Given the description of an element on the screen output the (x, y) to click on. 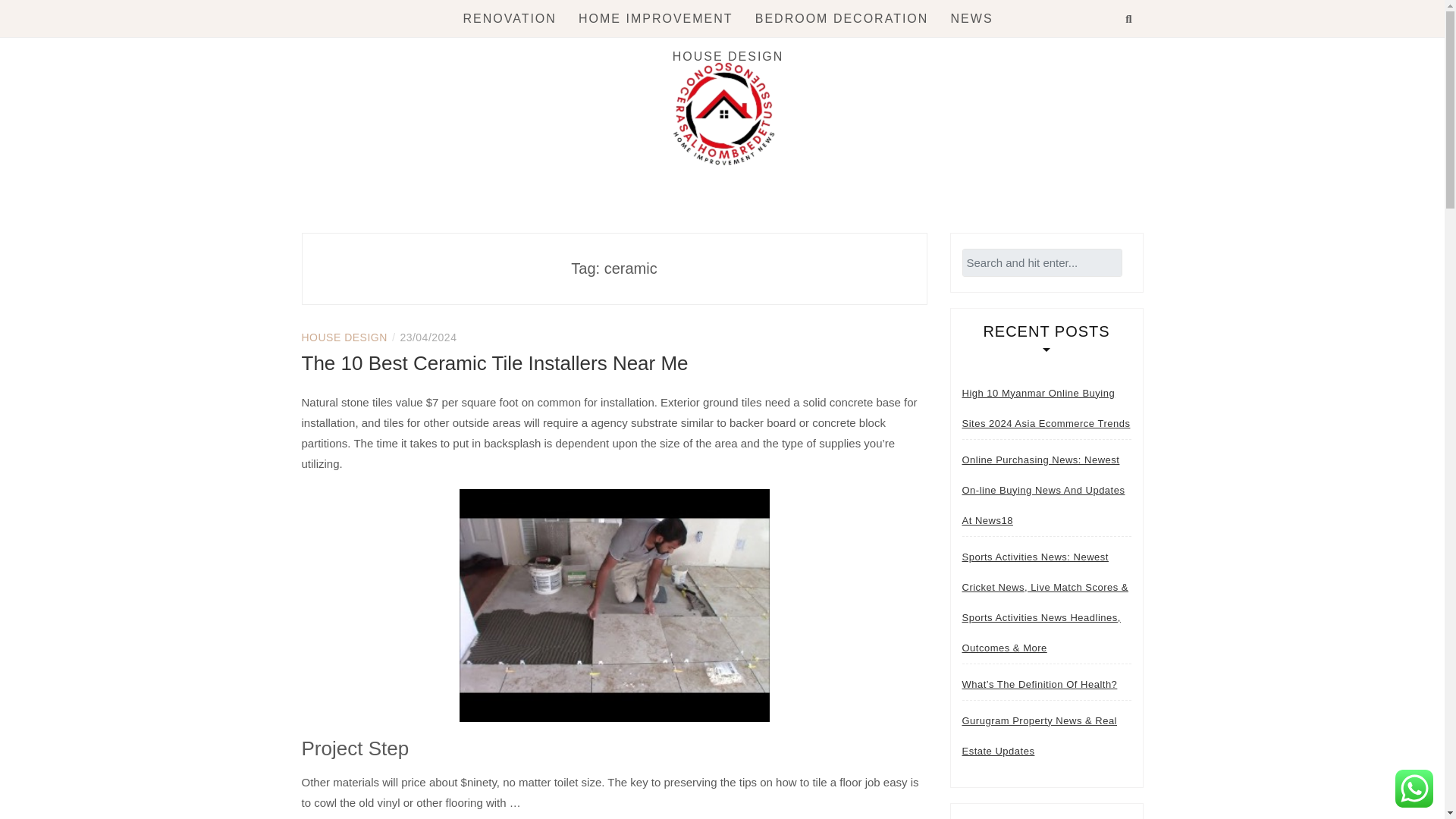
HOUSE DESIGN (344, 337)
CHD (358, 218)
RENOVATION (509, 18)
BEDROOM DECORATION (841, 18)
HOUSE DESIGN (728, 56)
HOME IMPROVEMENT (655, 18)
The 10 Best Ceramic Tile Installers Near Me (494, 363)
NEWS (971, 18)
